Given the description of an element on the screen output the (x, y) to click on. 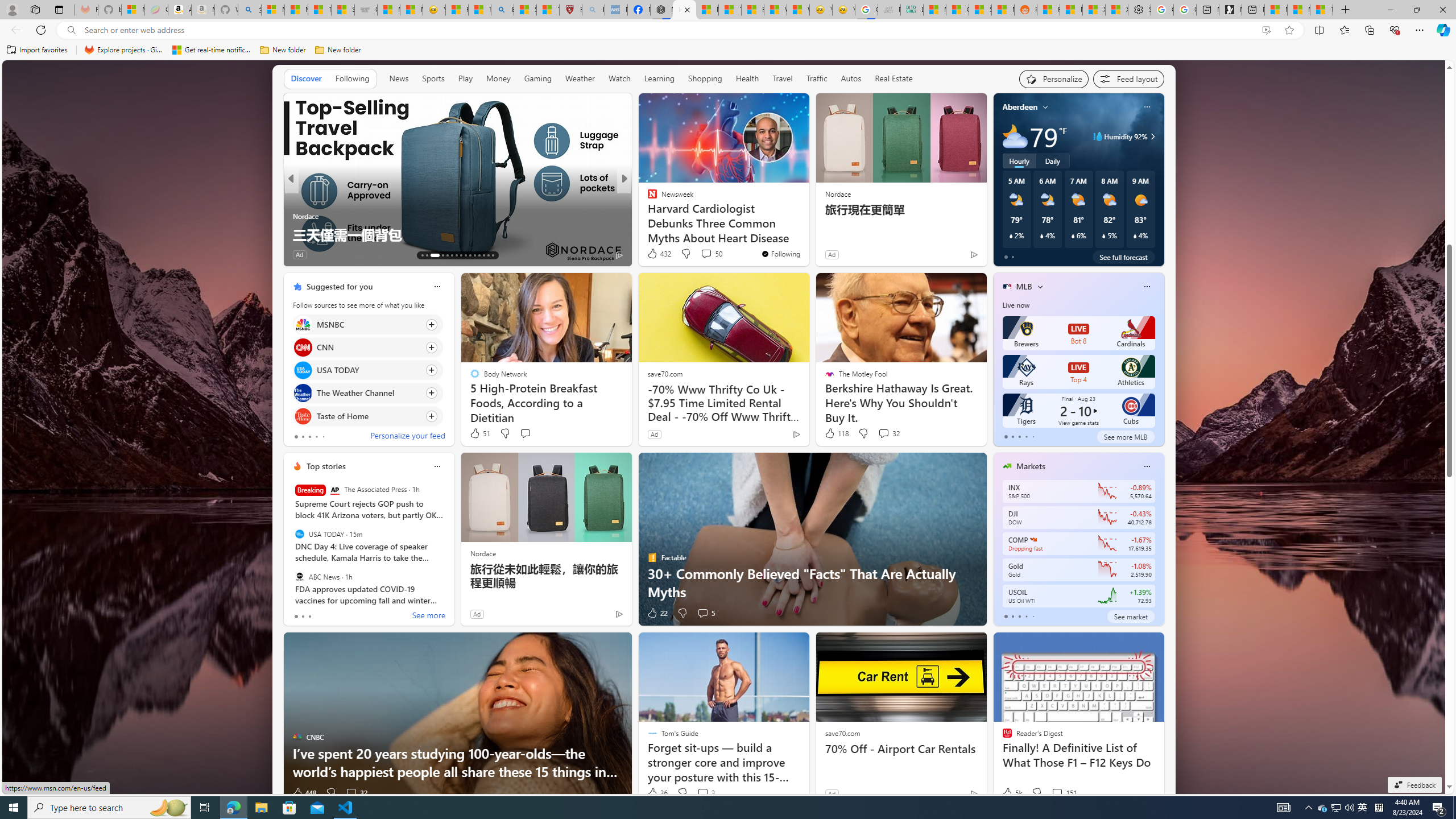
Class: weather-arrow-glyph (1152, 136)
38 Things That Are Basically Adulting Cheat Codes (807, 234)
tab-1 (1012, 616)
328 Like (654, 254)
22 Like (657, 612)
AutomationID: backgroundImagePicture (723, 426)
View comments 32 Comment (350, 792)
Aberdeen (1019, 106)
Real Estate (893, 78)
2 Like (651, 254)
